Given the description of an element on the screen output the (x, y) to click on. 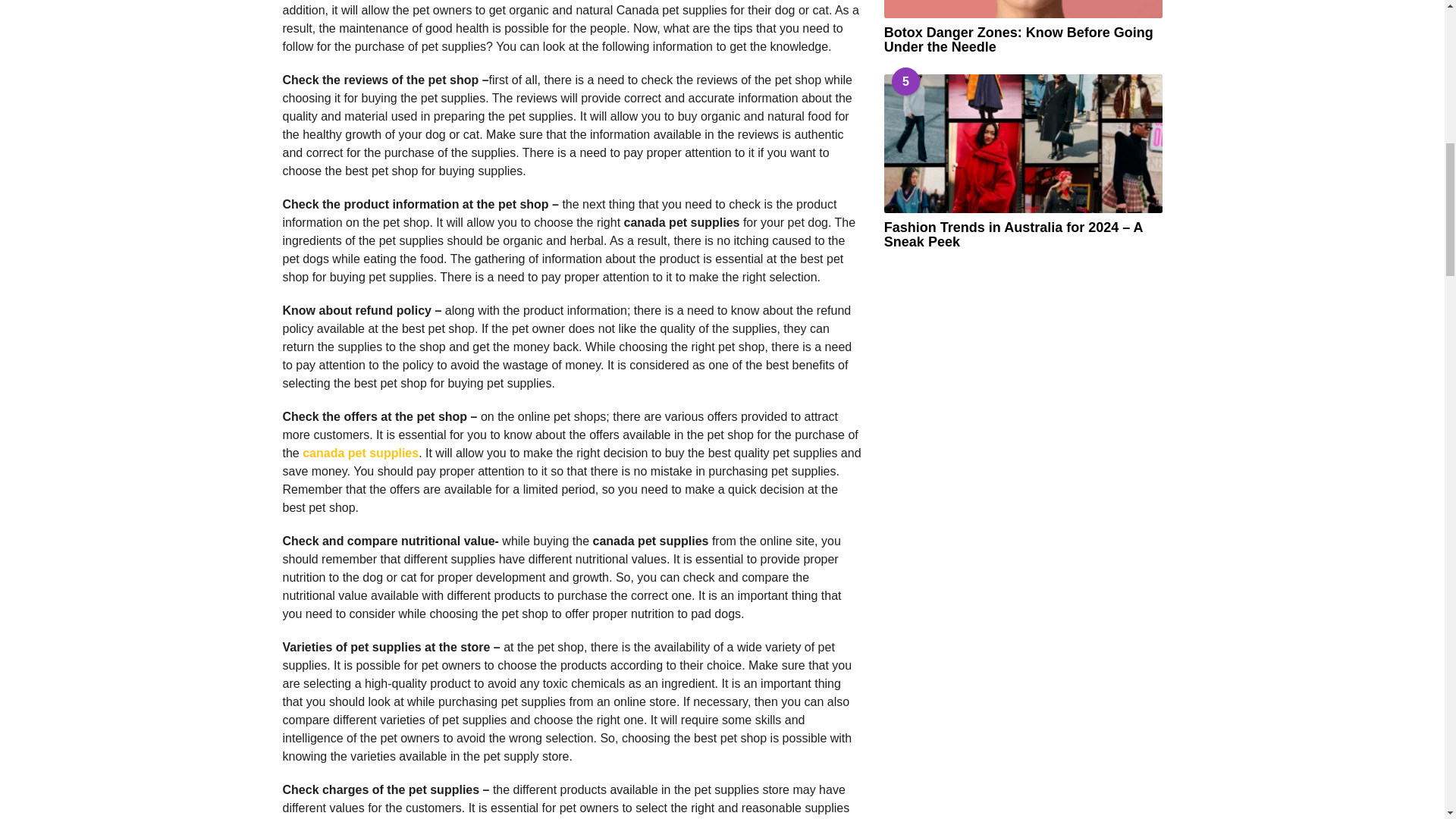
canada pet supplies (360, 452)
